Given the description of an element on the screen output the (x, y) to click on. 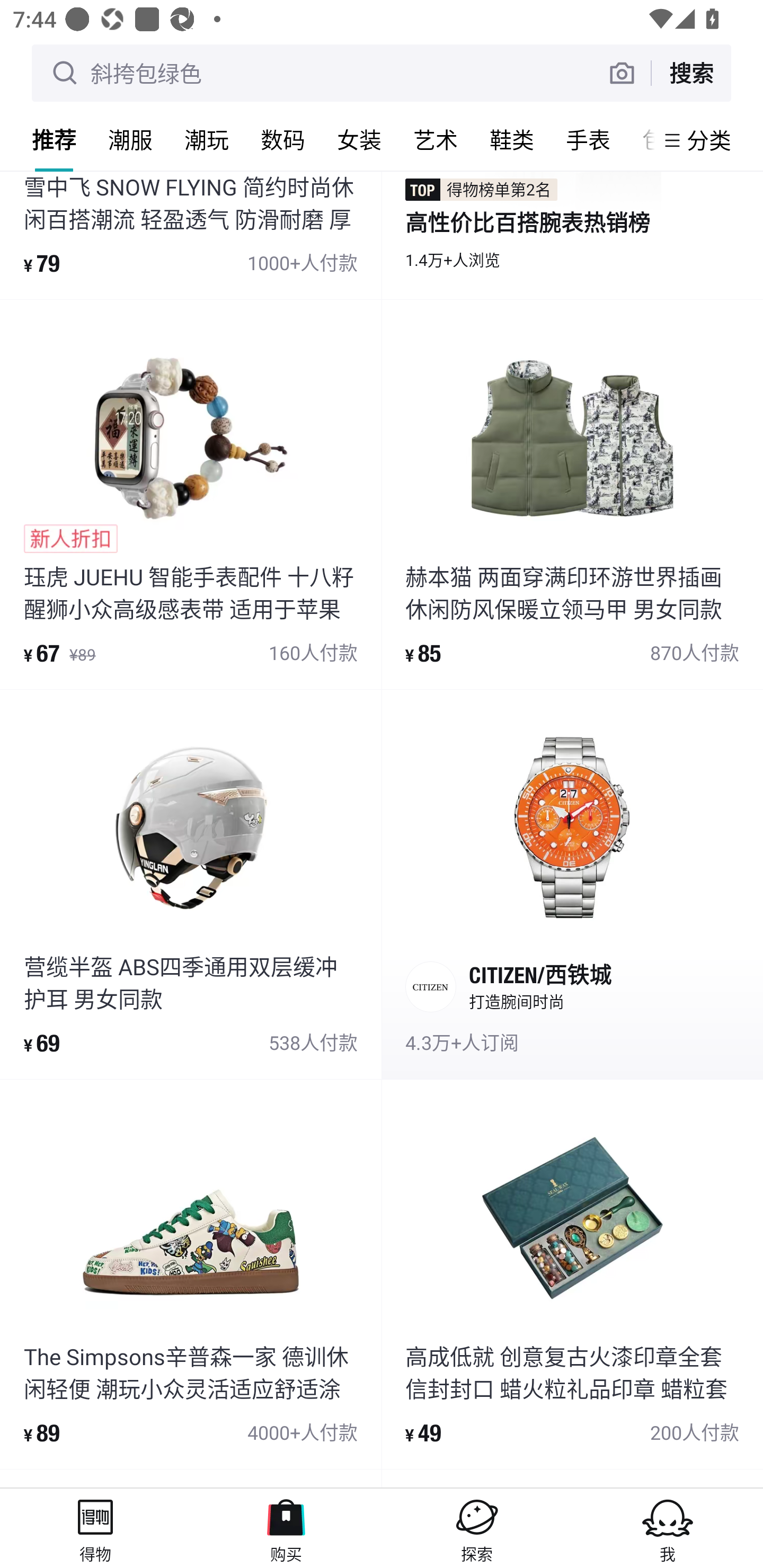
搜索 (690, 72)
推荐 (54, 139)
潮服 (130, 139)
潮玩 (206, 139)
数码 (282, 139)
女装 (359, 139)
艺术 (435, 139)
鞋类 (511, 139)
手表 (588, 139)
分类 (708, 139)
得物榜单第2名 高性价比百搭腕表热销榜 1.4万+人浏览 (572, 234)
product_item 营缆半盔 ABS四季通用双层缓冲
护耳 男女同款 ¥ 69 538人付款 (190, 883)
CITIZEN/西铁城 打造腕间时尚 4.3万+人订阅 (572, 883)
得物 (95, 1528)
购买 (285, 1528)
探索 (476, 1528)
我 (667, 1528)
